Given the description of an element on the screen output the (x, y) to click on. 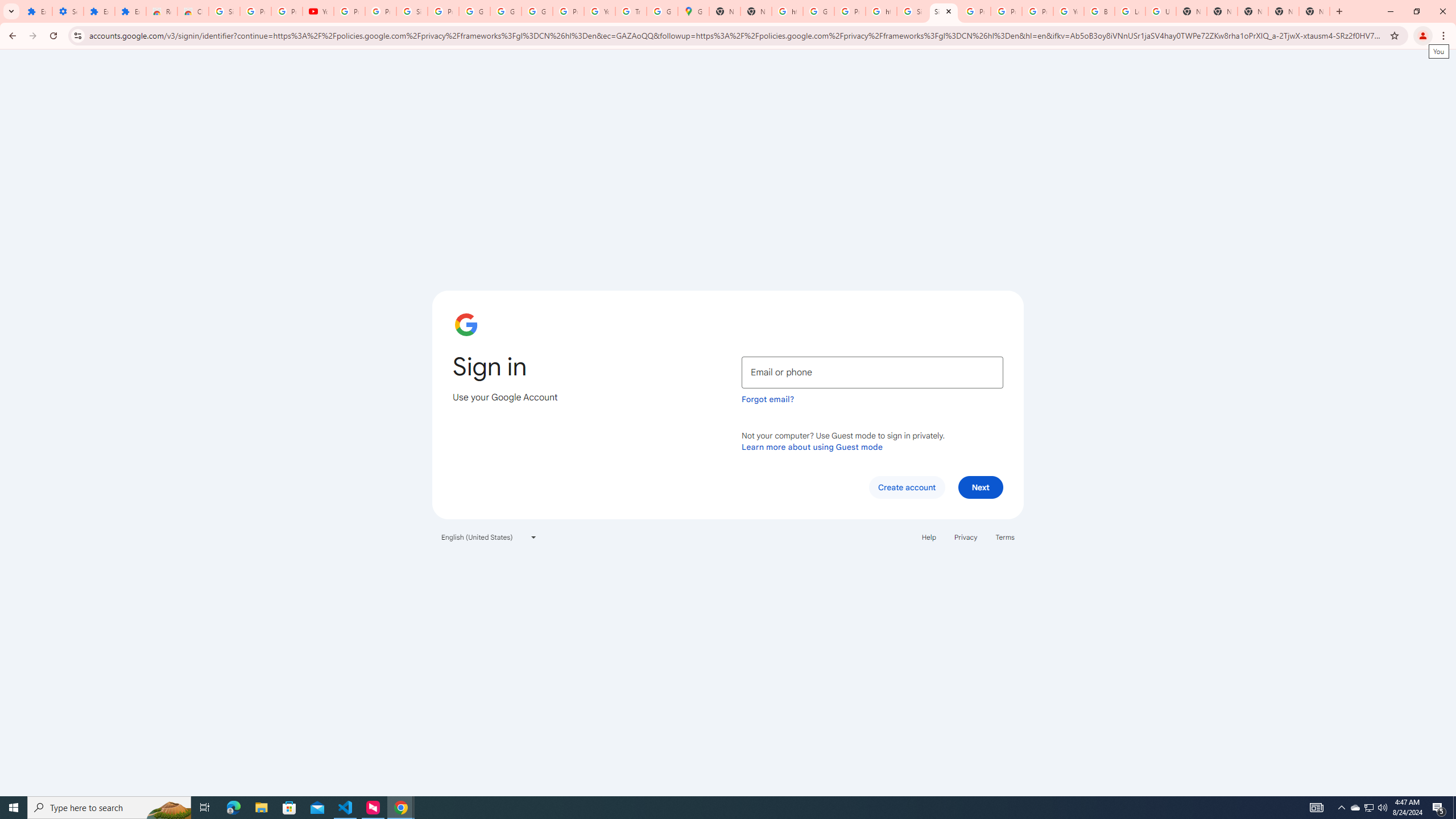
Address and search bar (735, 35)
https://scholar.google.com/ (787, 11)
YouTube (1068, 11)
Next (980, 486)
English (United States) (489, 536)
Browse Chrome as a guest - Computer - Google Chrome Help (1098, 11)
YouTube (599, 11)
Sign in - Google Accounts (912, 11)
